Given the description of an element on the screen output the (x, y) to click on. 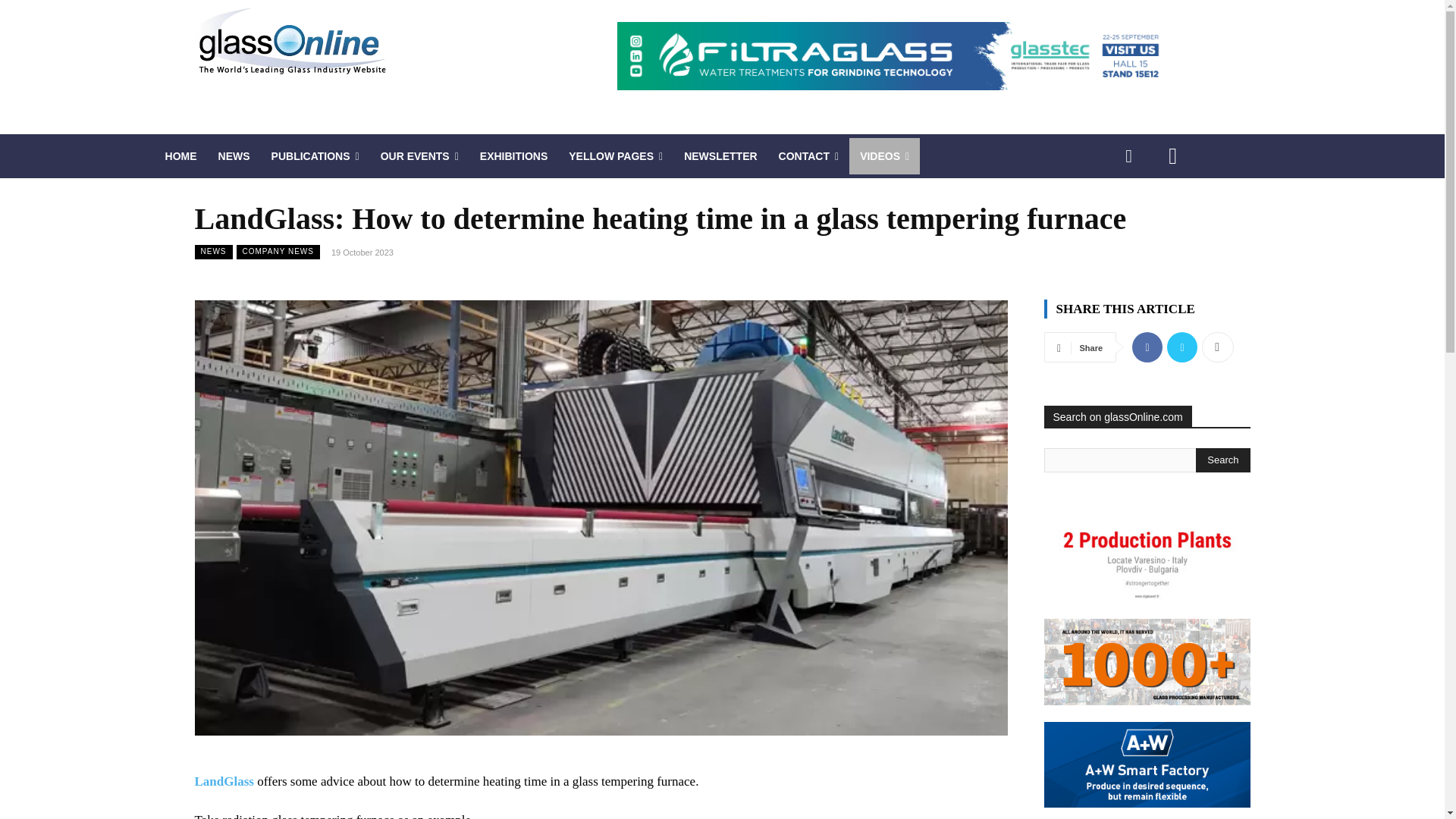
Youtube (1172, 156)
Search (1222, 459)
Linkedin (1128, 156)
